Given the description of an element on the screen output the (x, y) to click on. 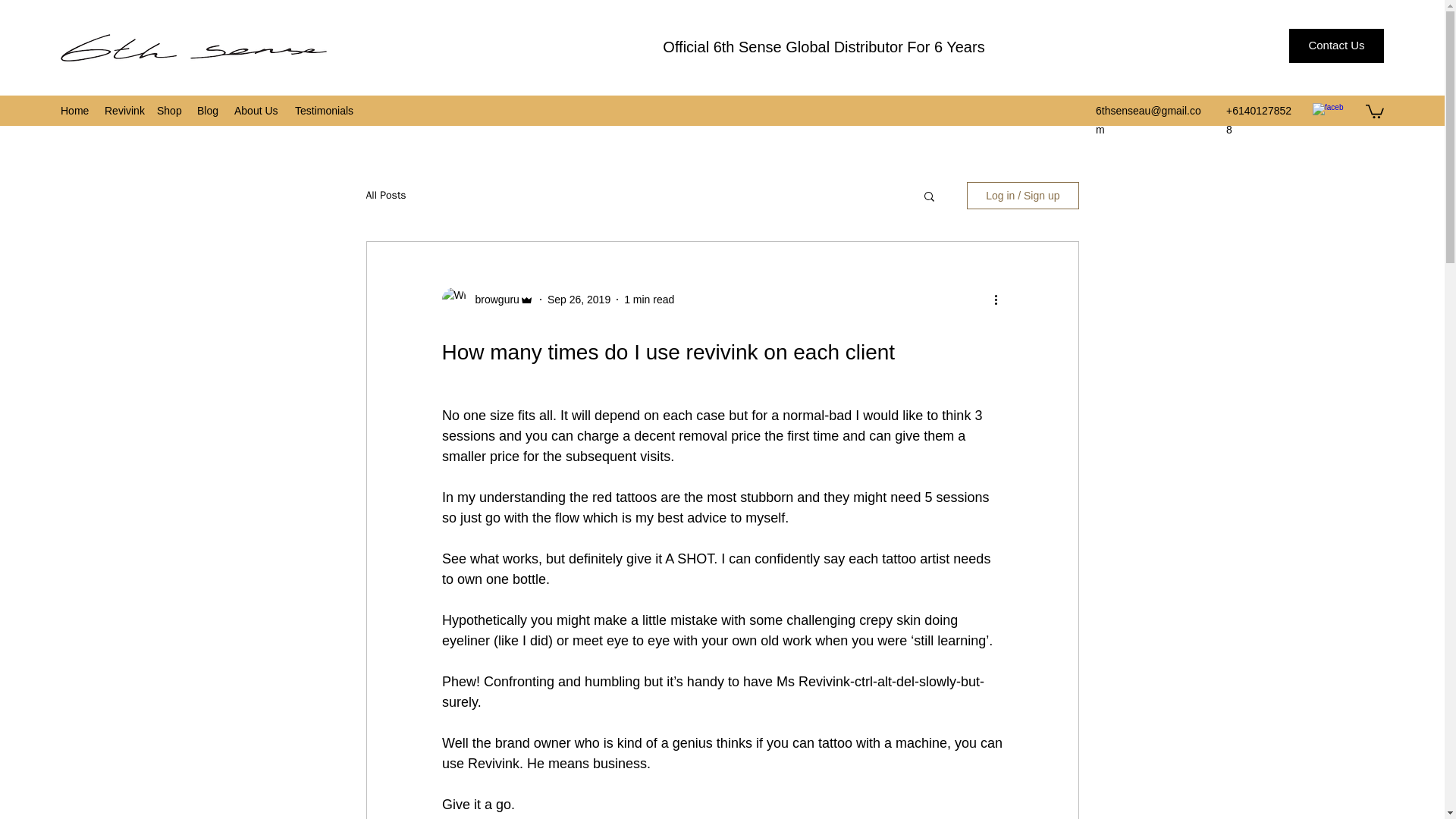
Blog (208, 110)
1 min read (649, 299)
Home (74, 110)
Testimonials (322, 110)
browguru (491, 299)
About Us (256, 110)
Contact Us (1336, 45)
Revivink (123, 110)
Sep 26, 2019 (578, 299)
Shop (169, 110)
All Posts (385, 195)
